Given the description of an element on the screen output the (x, y) to click on. 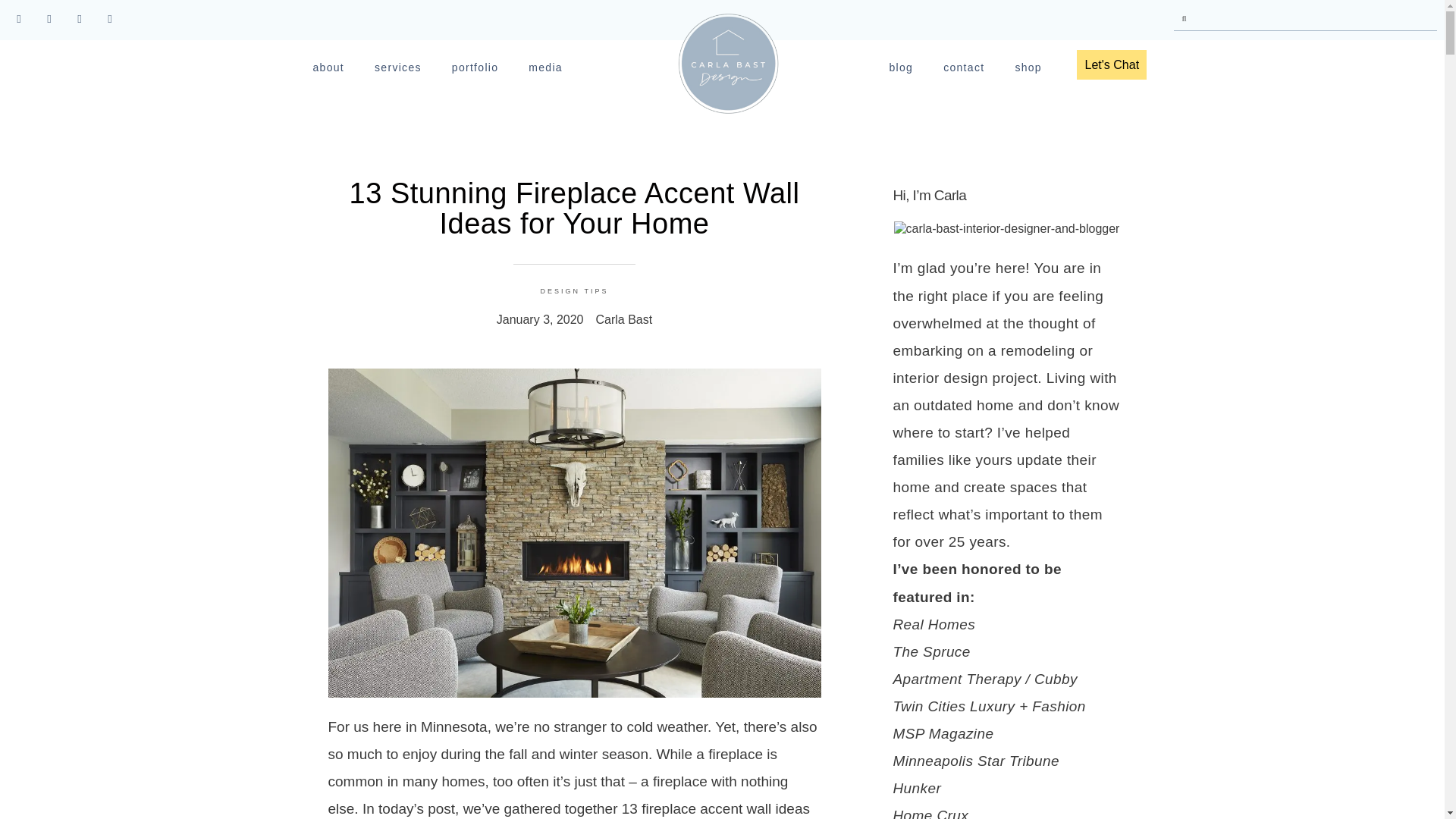
contact (963, 67)
blog (900, 67)
Let's Chat (1112, 64)
Carla Bast (623, 319)
shop (1027, 67)
DESIGN TIPS (574, 290)
January 3, 2020 (539, 319)
about (328, 67)
media (545, 67)
portfolio (474, 67)
